Given the description of an element on the screen output the (x, y) to click on. 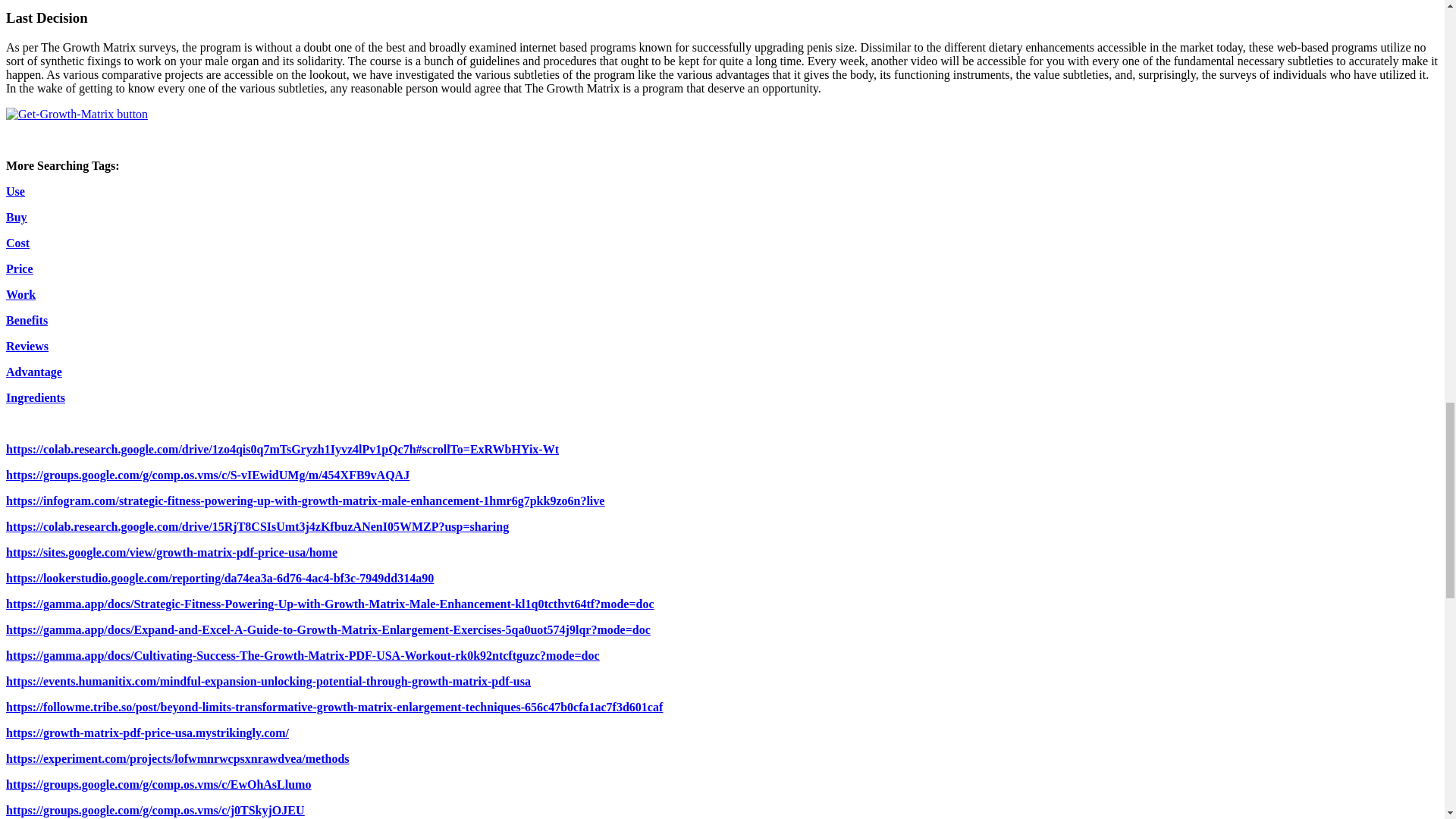
Advantage (33, 371)
Cost (17, 242)
Buy (16, 216)
Benefits (26, 319)
Ingredients (35, 397)
Work (19, 294)
Reviews (26, 345)
Price (19, 268)
Use (14, 191)
